Given the description of an element on the screen output the (x, y) to click on. 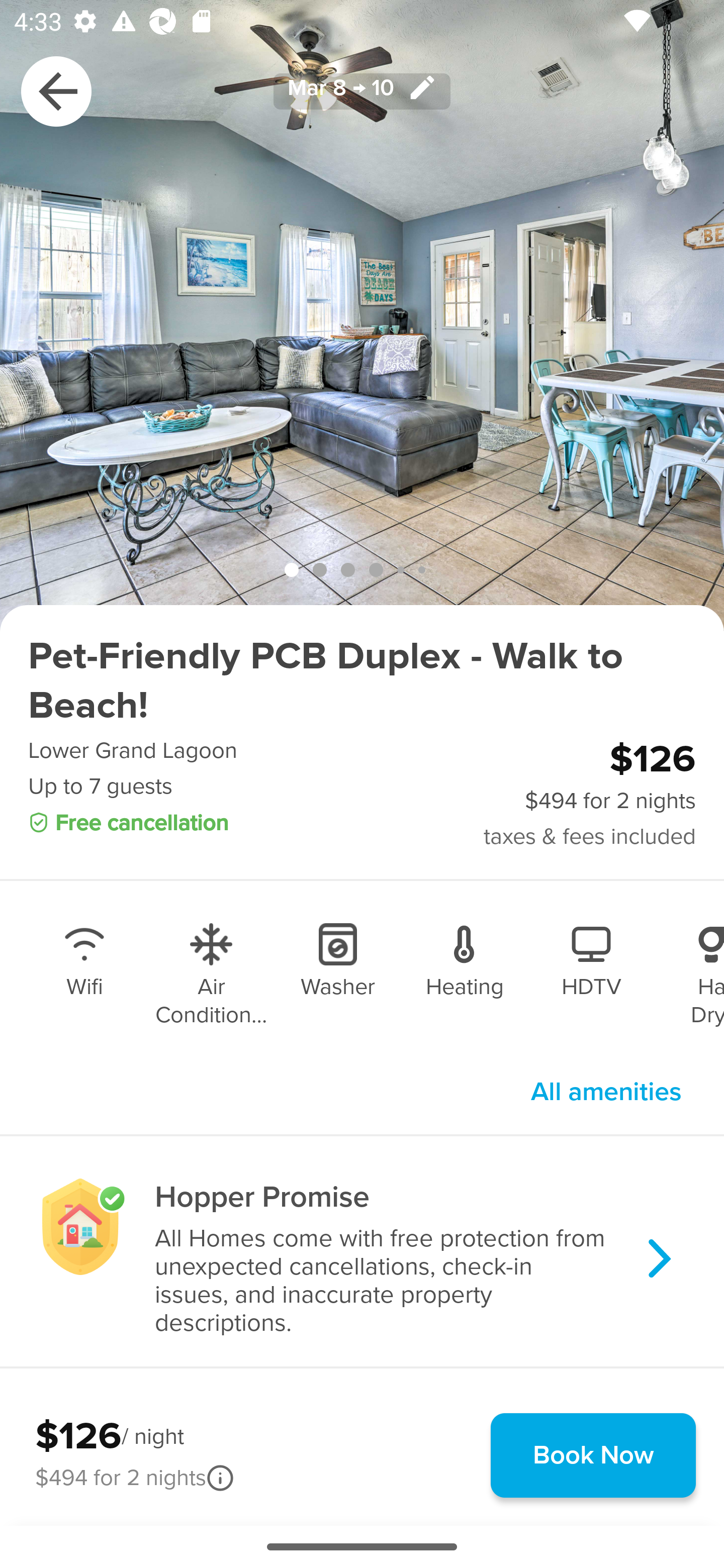
Mar 8 → 10 (361, 90)
Pet-Friendly PCB Duplex - Walk to Beach! (361, 681)
All amenities (606, 1091)
Book Now (592, 1454)
